Given the description of an element on the screen output the (x, y) to click on. 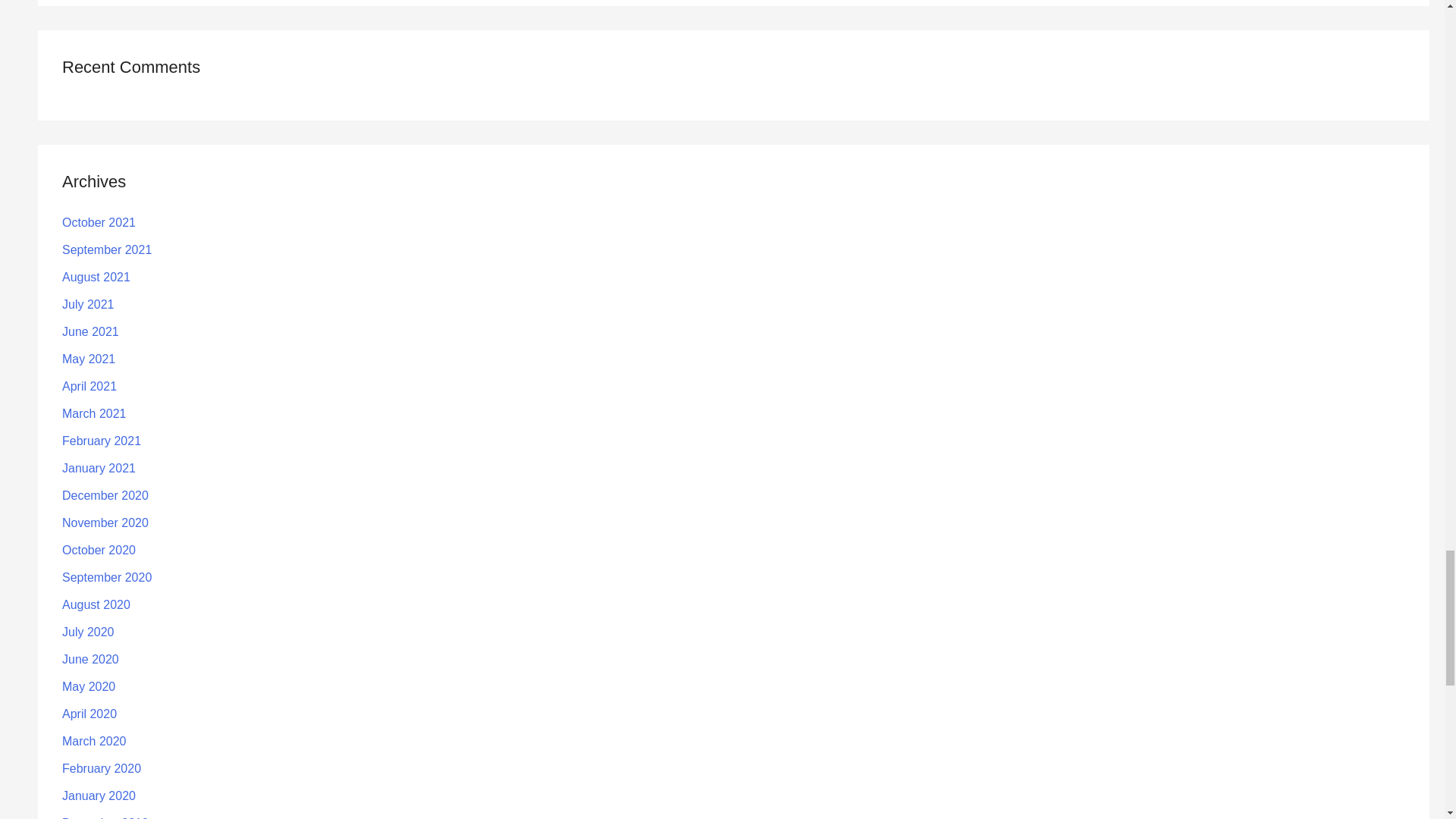
February 2021 (101, 440)
July 2020 (88, 631)
December 2020 (105, 495)
October 2021 (98, 222)
May 2020 (88, 686)
April 2021 (89, 386)
September 2021 (106, 249)
June 2021 (90, 331)
July 2021 (88, 304)
November 2020 (105, 522)
March 2020 (94, 740)
June 2020 (90, 658)
September 2020 (106, 576)
March 2021 (94, 413)
October 2020 (98, 549)
